Given the description of an element on the screen output the (x, y) to click on. 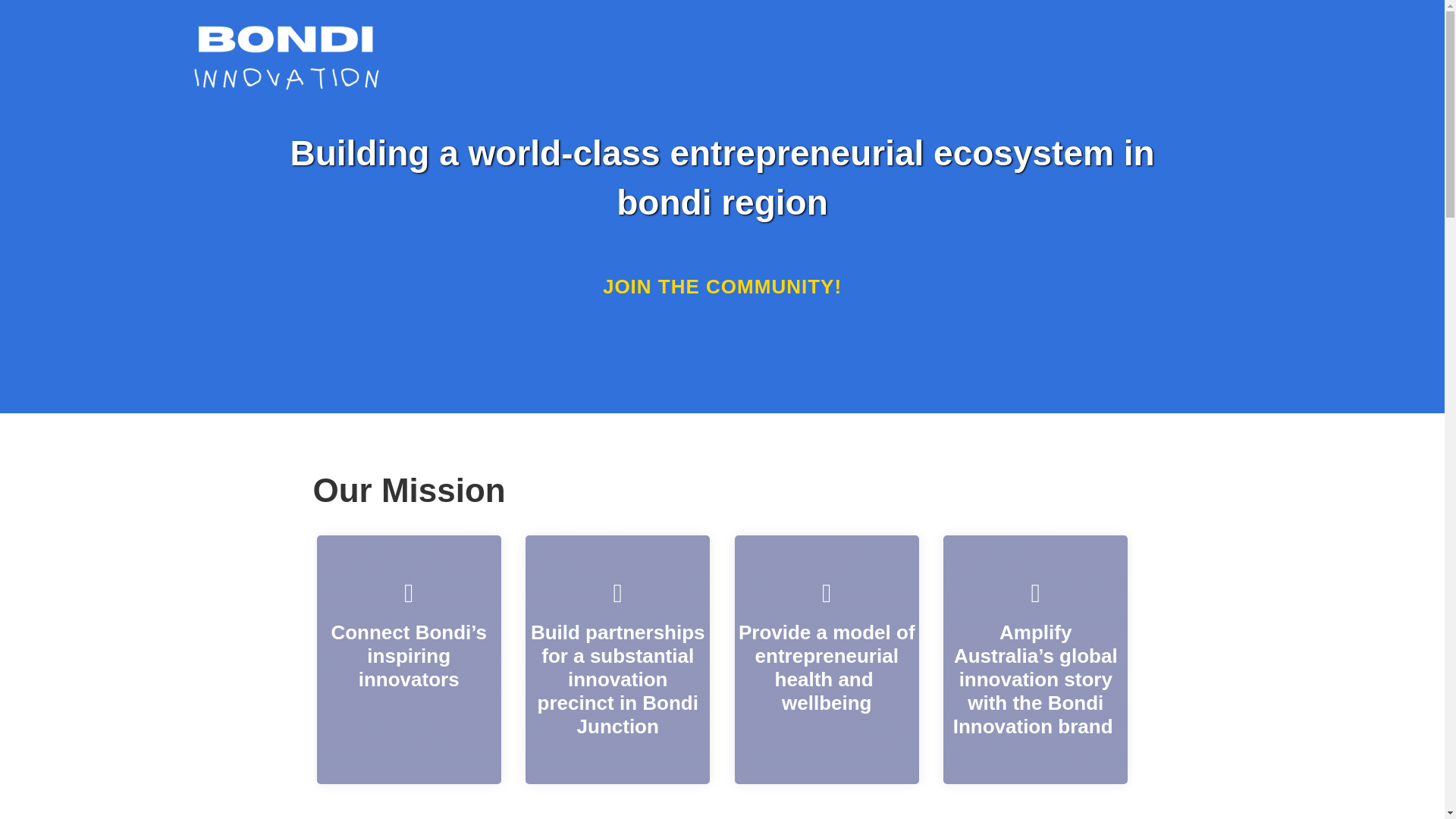
Bondi-Innovation-logo-white-on-transparent (285, 57)
JOIN THE COMMUNITY! (722, 286)
